Given the description of an element on the screen output the (x, y) to click on. 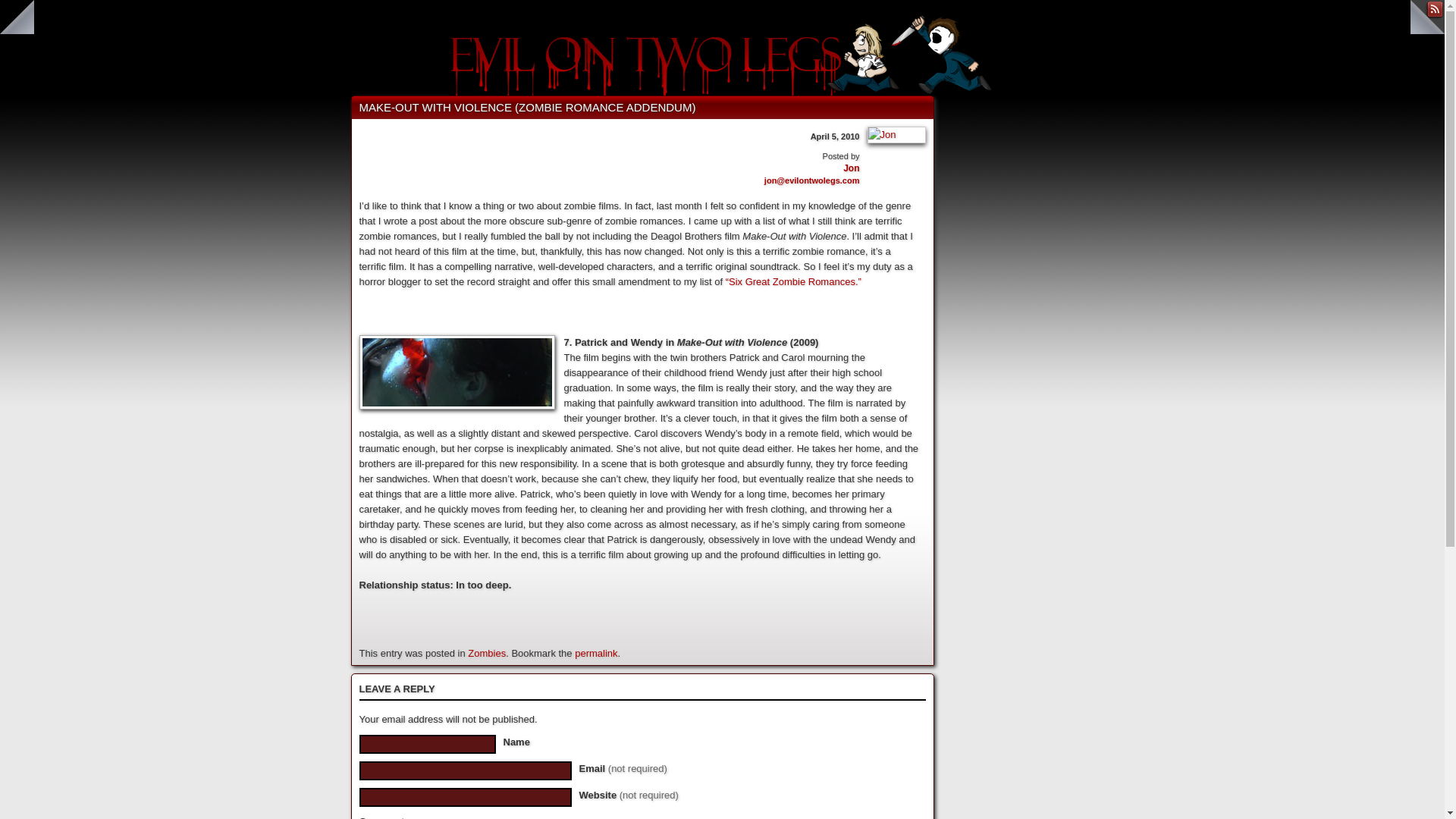
permalink (596, 653)
Zombies (486, 653)
Jon (851, 167)
Posts by Jon (851, 167)
April 5, 2010 (835, 135)
